Given the description of an element on the screen output the (x, y) to click on. 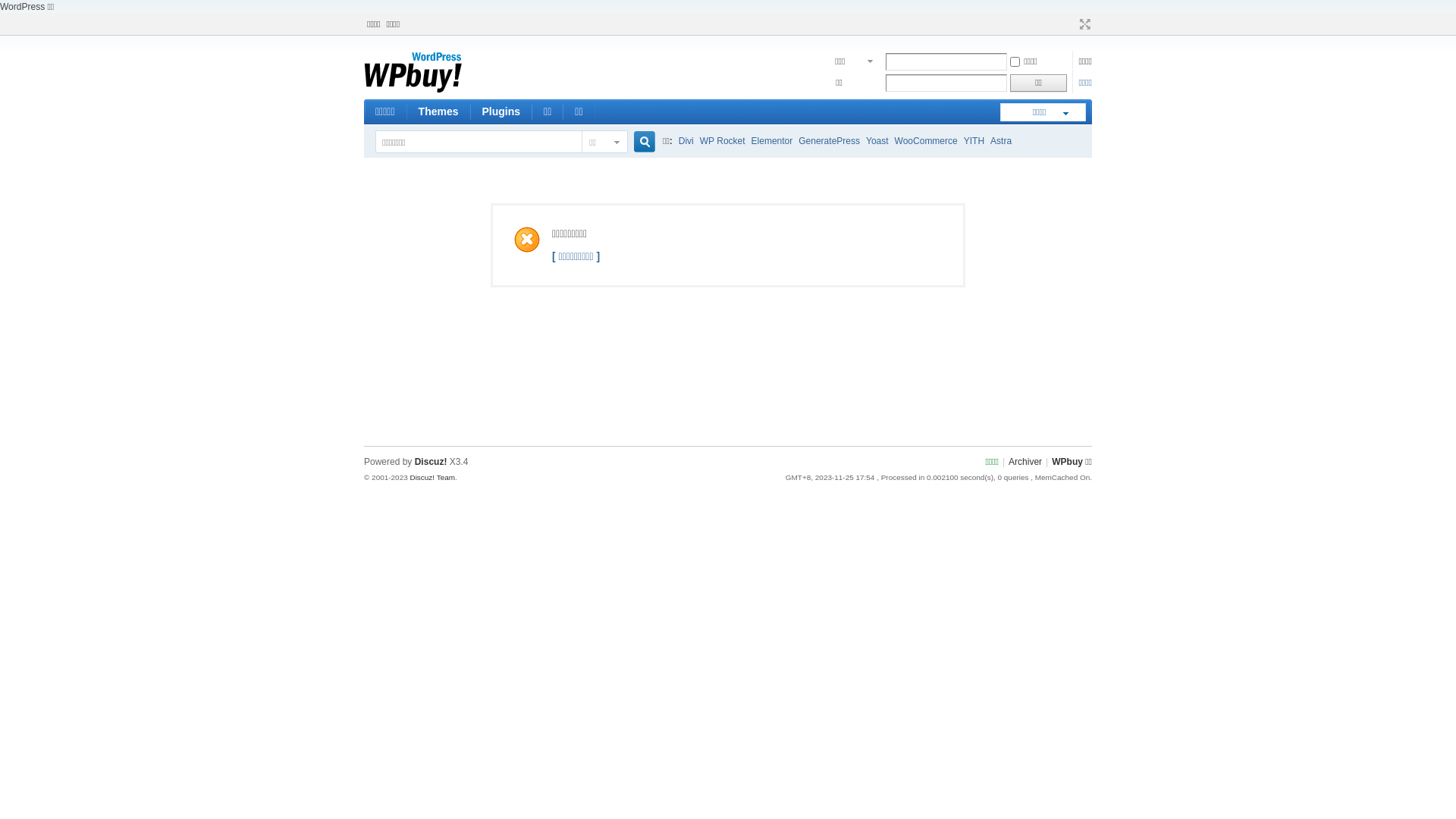
Yoast Element type: text (877, 140)
Archiver Element type: text (1024, 461)
Elementor Element type: text (772, 140)
true Element type: text (638, 141)
GeneratePress Element type: text (828, 140)
Plugins Element type: text (500, 111)
Themes Element type: text (438, 111)
WP Rocket Element type: text (722, 140)
Discuz! Element type: text (430, 461)
Divi Element type: text (685, 140)
Discuz! Team Element type: text (432, 477)
YITH Element type: text (973, 140)
WooCommerce Element type: text (925, 140)
Astra Element type: text (1000, 140)
